Given the description of an element on the screen output the (x, y) to click on. 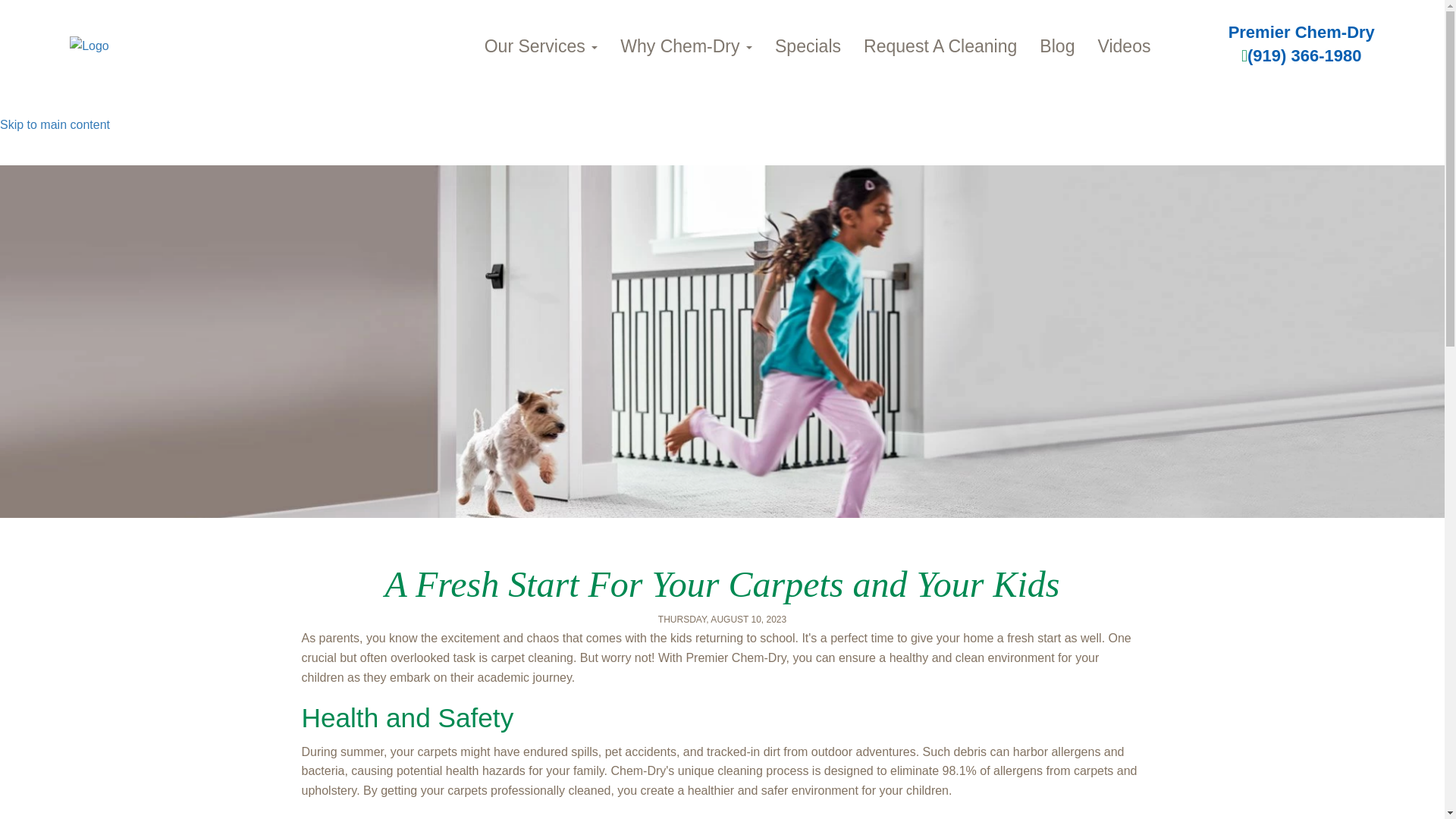
Our Services (541, 46)
Videos (1123, 46)
Why Chem-Dry (685, 46)
Skip to main content (55, 124)
Blog (1056, 46)
Call Premier Chem-Dry (1301, 55)
Logo (185, 46)
Request A Cleaning (939, 46)
Specials (806, 46)
